Given the description of an element on the screen output the (x, y) to click on. 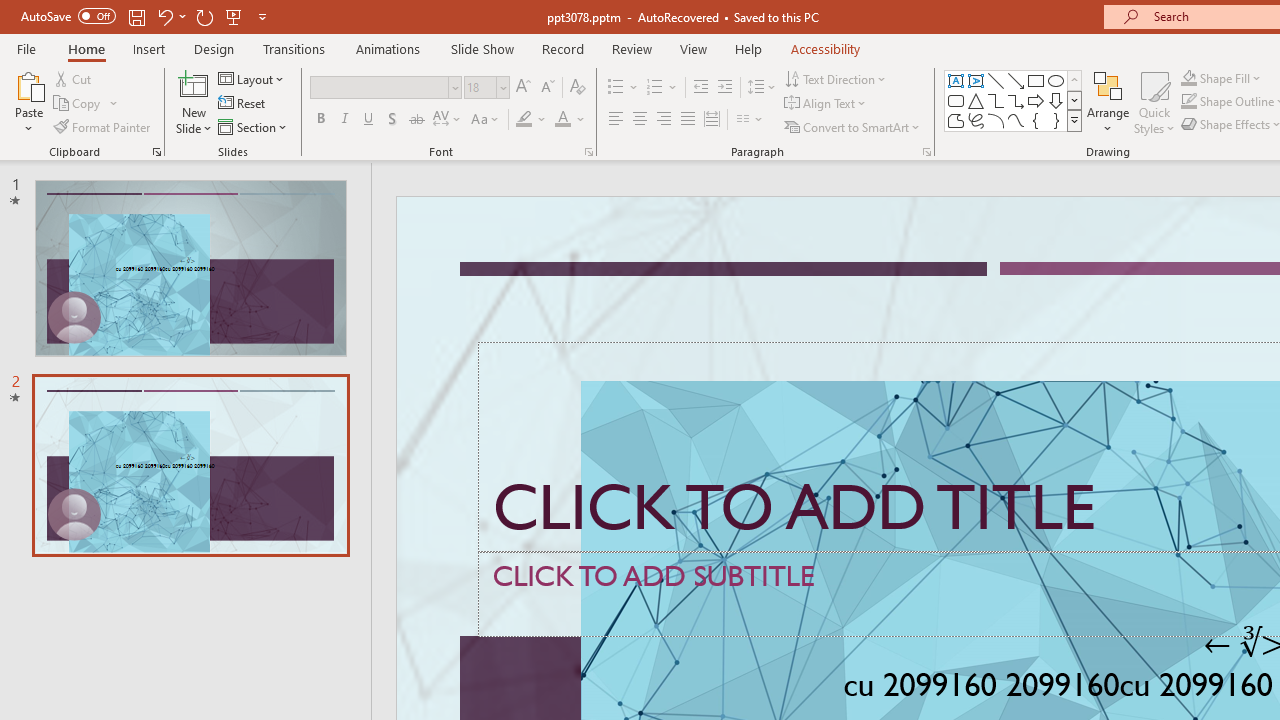
Shape Outline Green, Accent 1 (1188, 101)
